Given the description of an element on the screen output the (x, y) to click on. 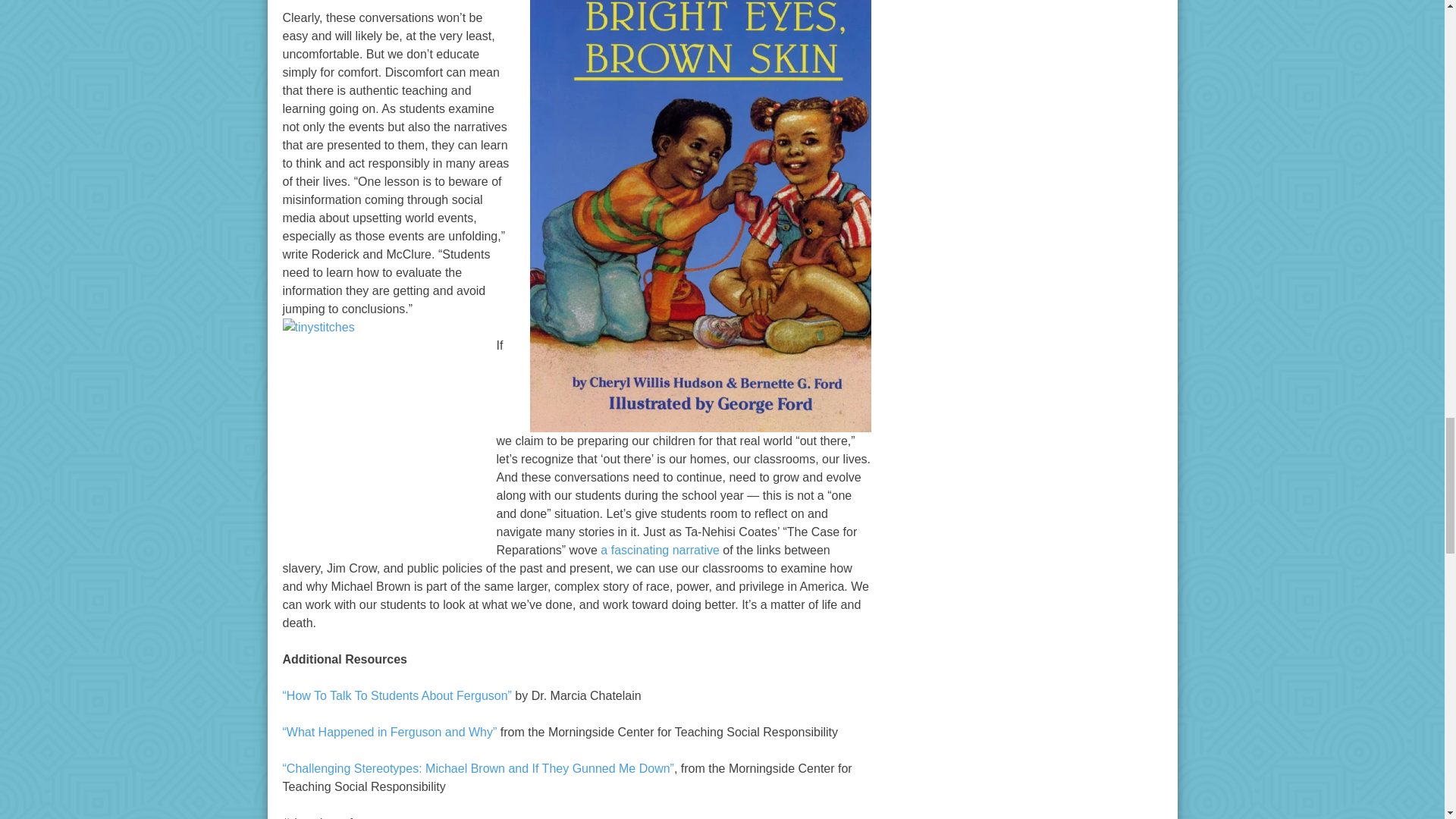
a fascinating narrative (659, 549)
